Given the description of an element on the screen output the (x, y) to click on. 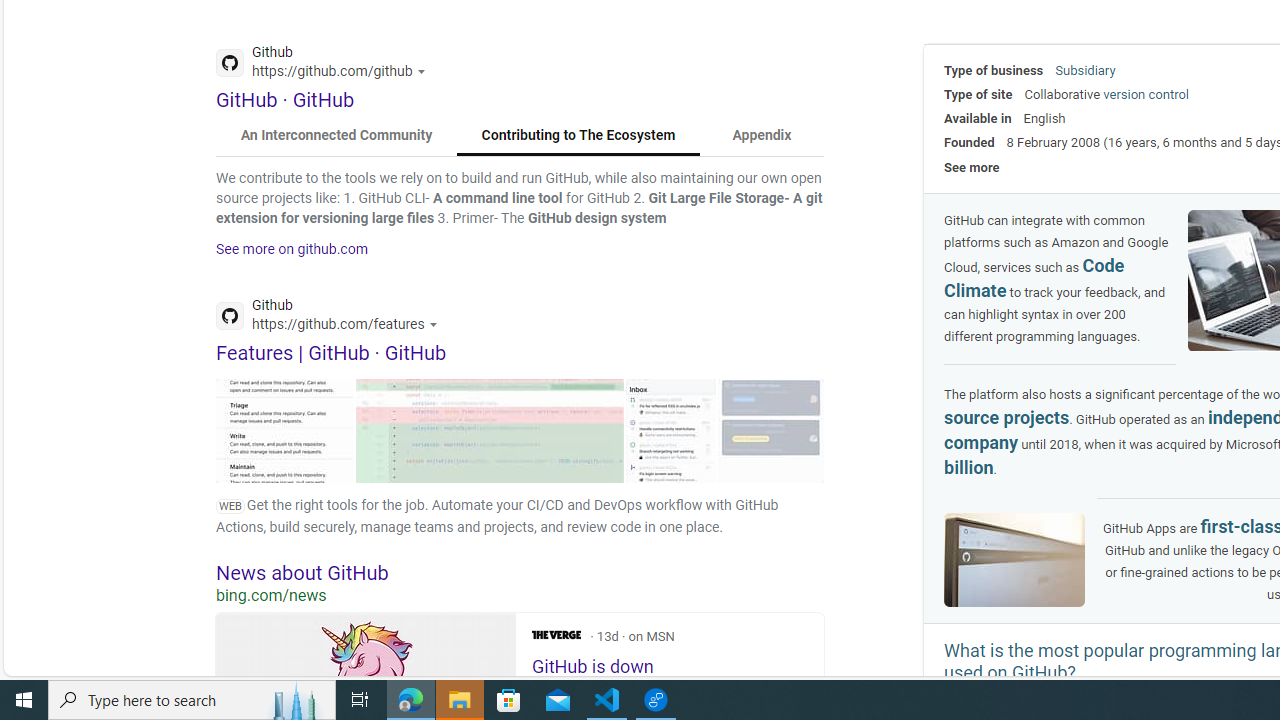
Image of GitHub (1014, 559)
An Interconnected Community (337, 135)
The Verge on MSN.com (556, 634)
Global web icon (229, 316)
Github (332, 317)
Available in (978, 117)
View details (771, 430)
version control (1146, 94)
